Given the description of an element on the screen output the (x, y) to click on. 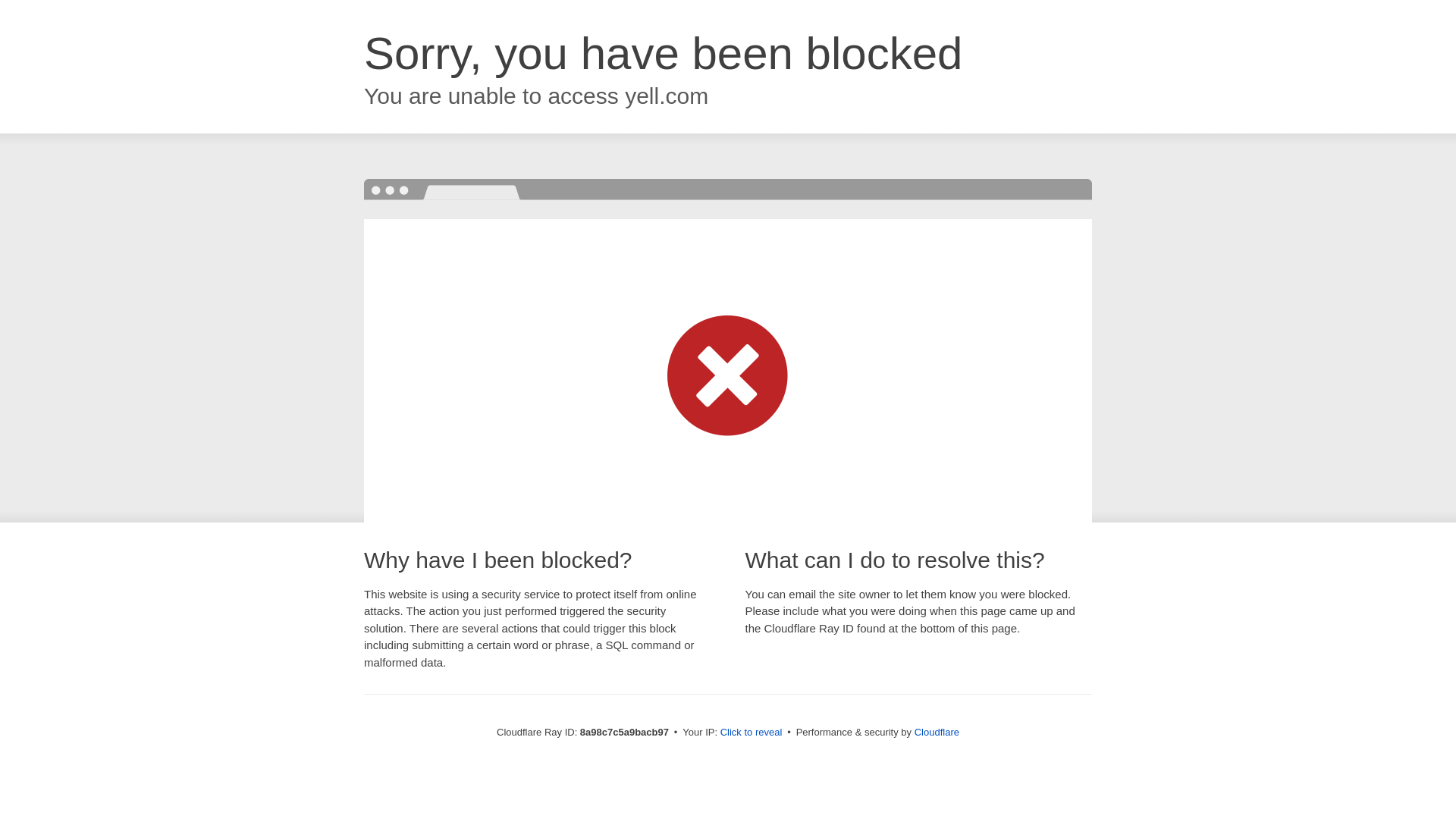
Click to reveal (751, 732)
Cloudflare (936, 731)
